Given the description of an element on the screen output the (x, y) to click on. 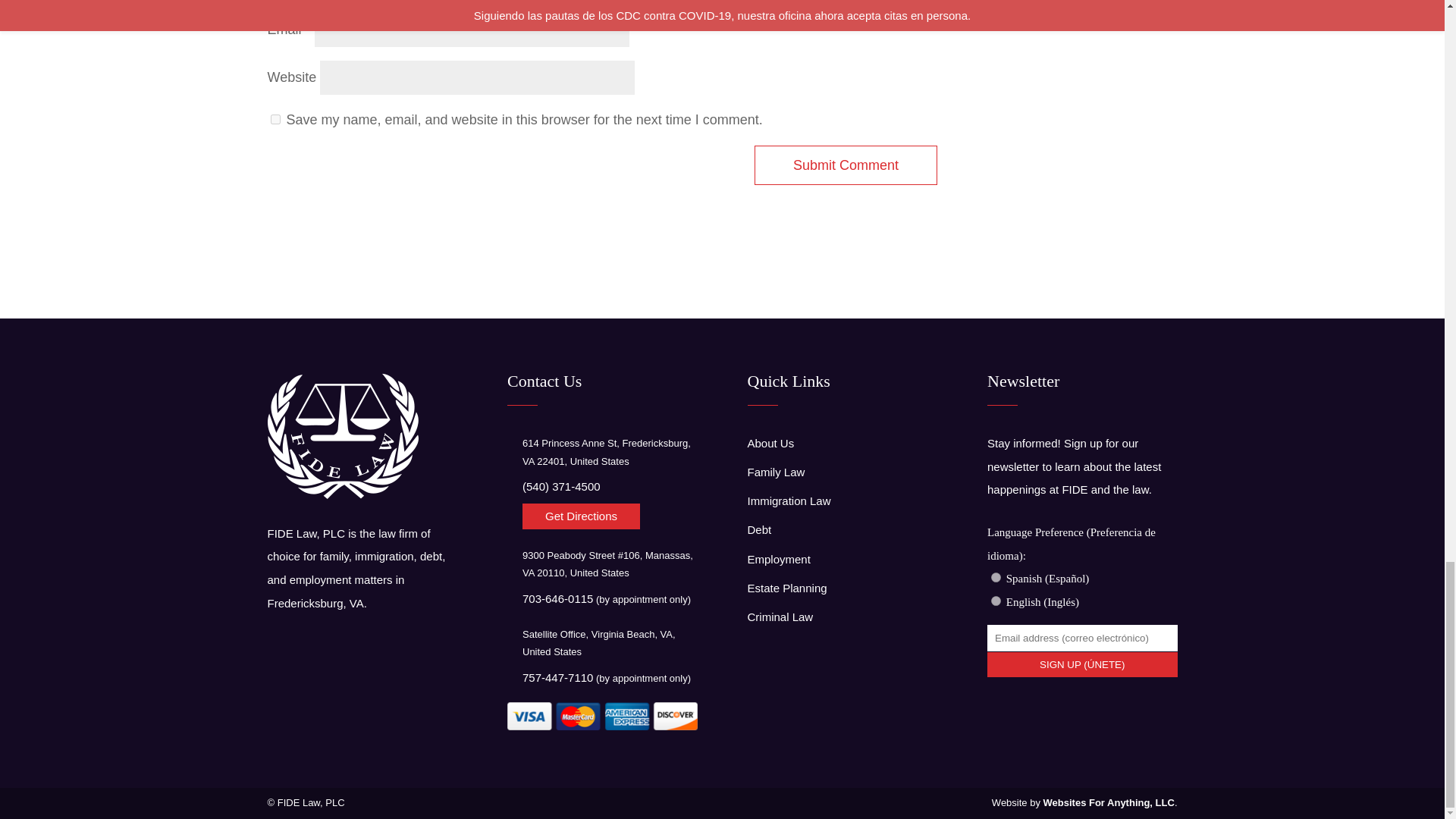
Submit Comment (845, 165)
Spanish (996, 577)
Submit Comment (845, 165)
yes (274, 119)
English (996, 601)
